Given the description of an element on the screen output the (x, y) to click on. 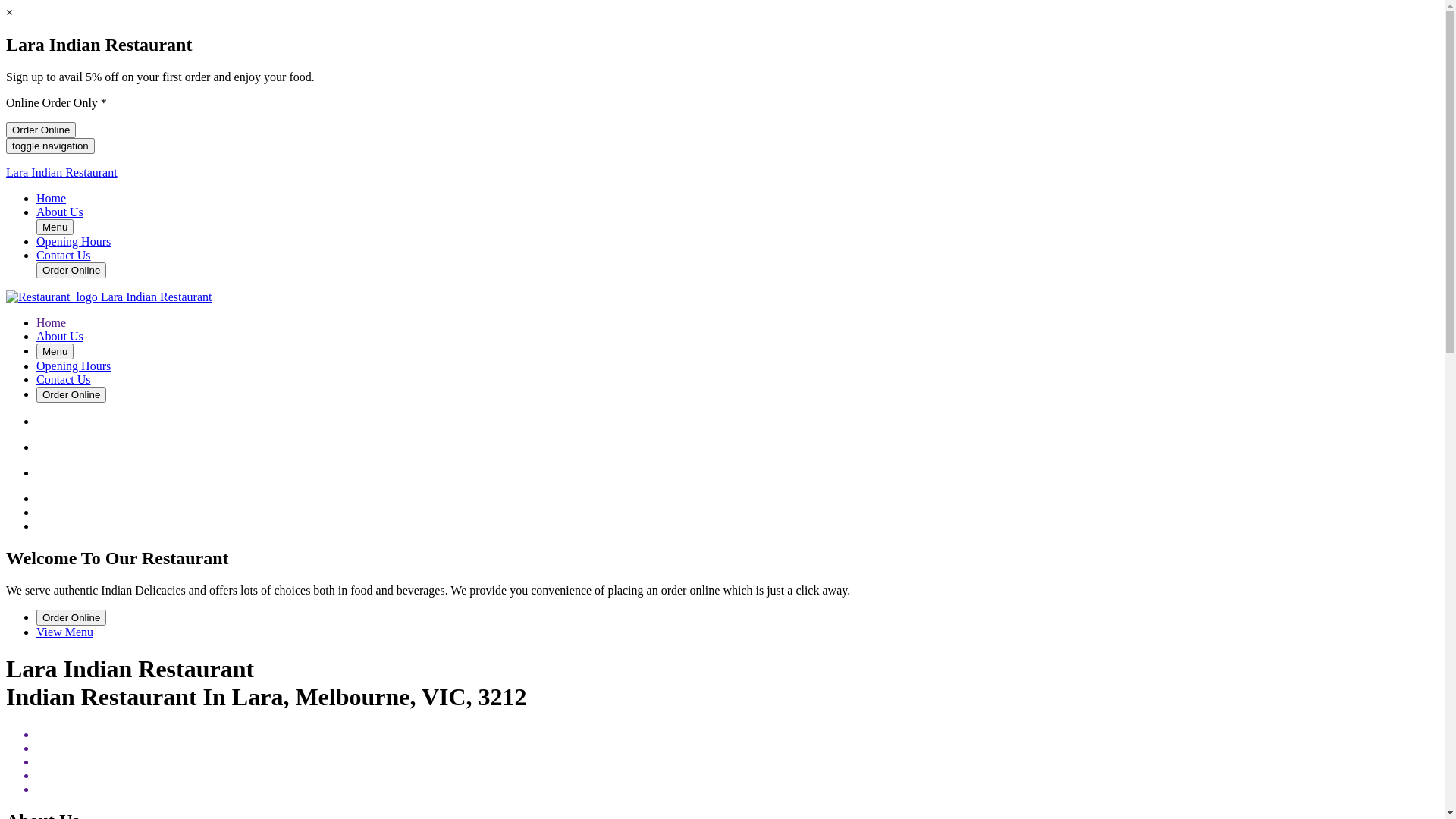
Contact Us Element type: text (63, 254)
Order Online Element type: text (71, 270)
Home Element type: text (50, 197)
Menu Element type: text (54, 351)
Opening Hours Element type: text (73, 241)
Home Element type: text (50, 322)
Order Online Element type: text (40, 130)
About Us Element type: text (59, 335)
About Us Element type: text (59, 211)
Menu Element type: text (54, 227)
Order Online Element type: text (71, 394)
Lara Indian Restaurant Element type: text (108, 296)
Contact Us Element type: text (63, 379)
toggle navigation Element type: text (50, 145)
Opening Hours Element type: text (73, 365)
Order Online Element type: text (71, 617)
Lara Indian Restaurant Element type: text (722, 172)
View Menu Element type: text (64, 631)
